Given the description of an element on the screen output the (x, y) to click on. 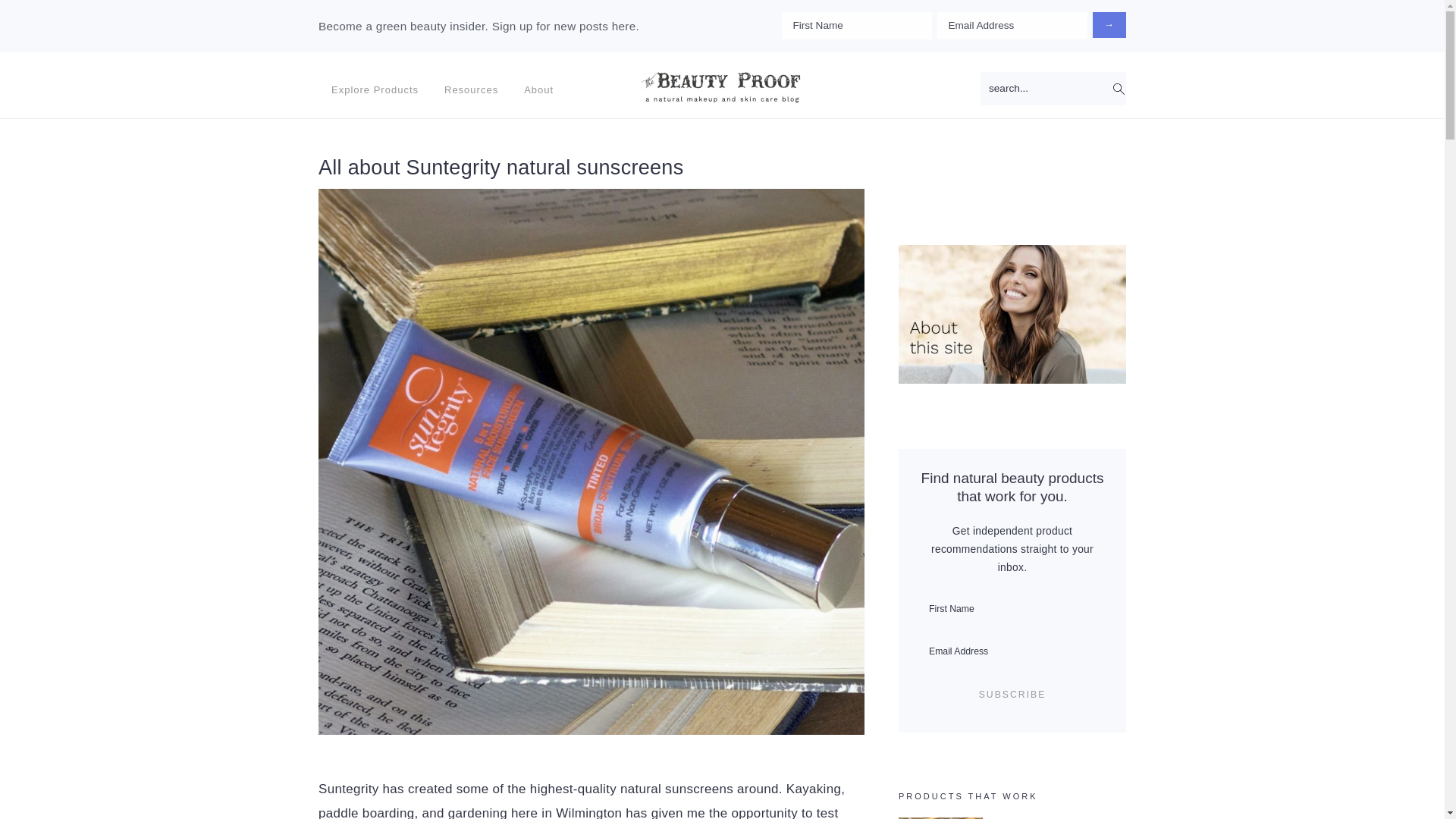
Subscribe (1011, 694)
Subscribe (1011, 694)
About (538, 89)
The Beauty Proof (721, 86)
Explore Products (374, 89)
Resources (470, 89)
